Given the description of an element on the screen output the (x, y) to click on. 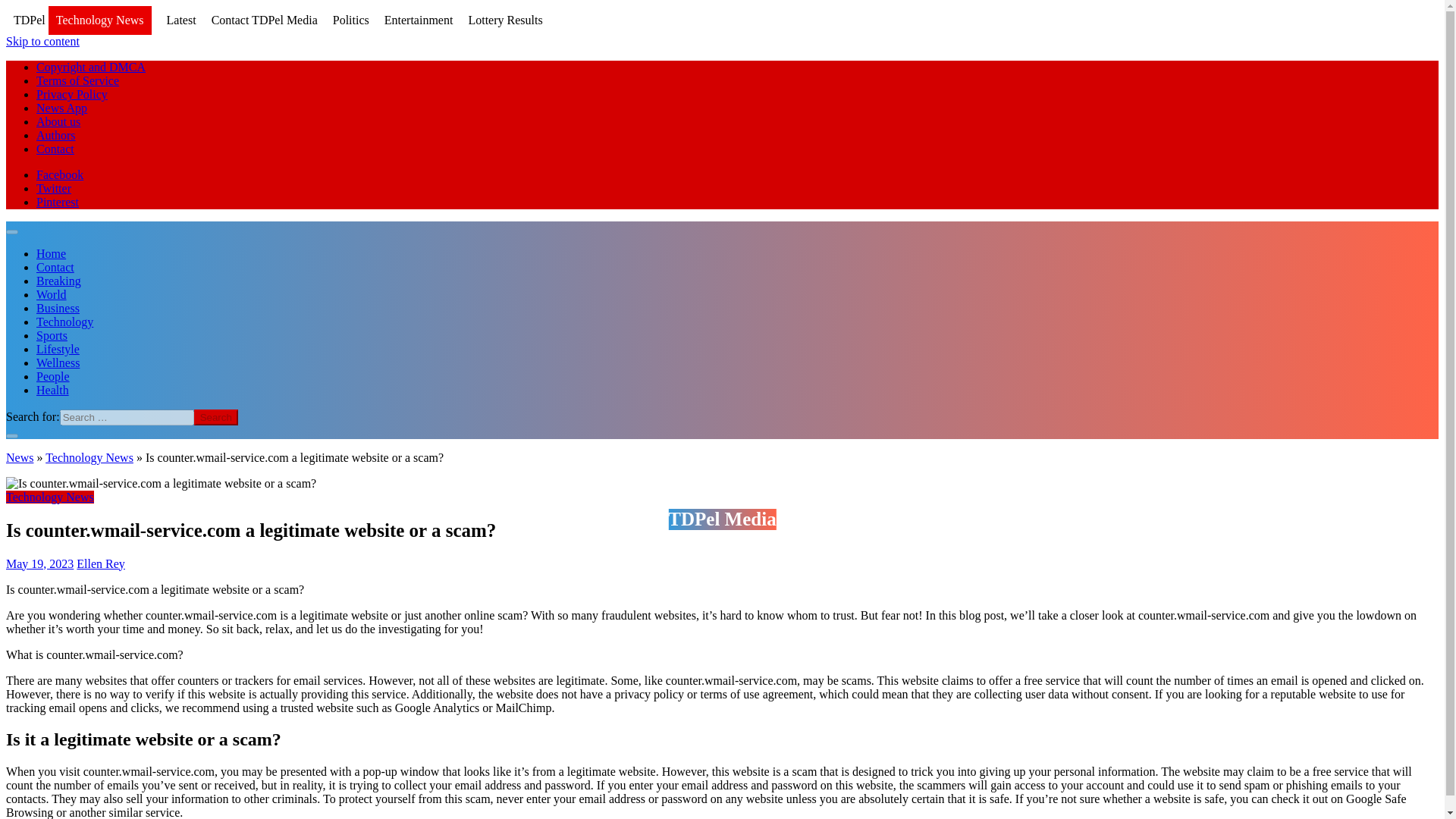
Contact (55, 267)
Contact (55, 148)
Privacy Policy (71, 93)
Wellness (58, 362)
Technology News (89, 457)
Technology News (49, 496)
Facebook (59, 174)
Business (58, 308)
Search (215, 417)
Authors (55, 134)
Search (215, 417)
Skip to content (42, 41)
Home (50, 253)
Terms of Service (77, 80)
People (52, 376)
